Given the description of an element on the screen output the (x, y) to click on. 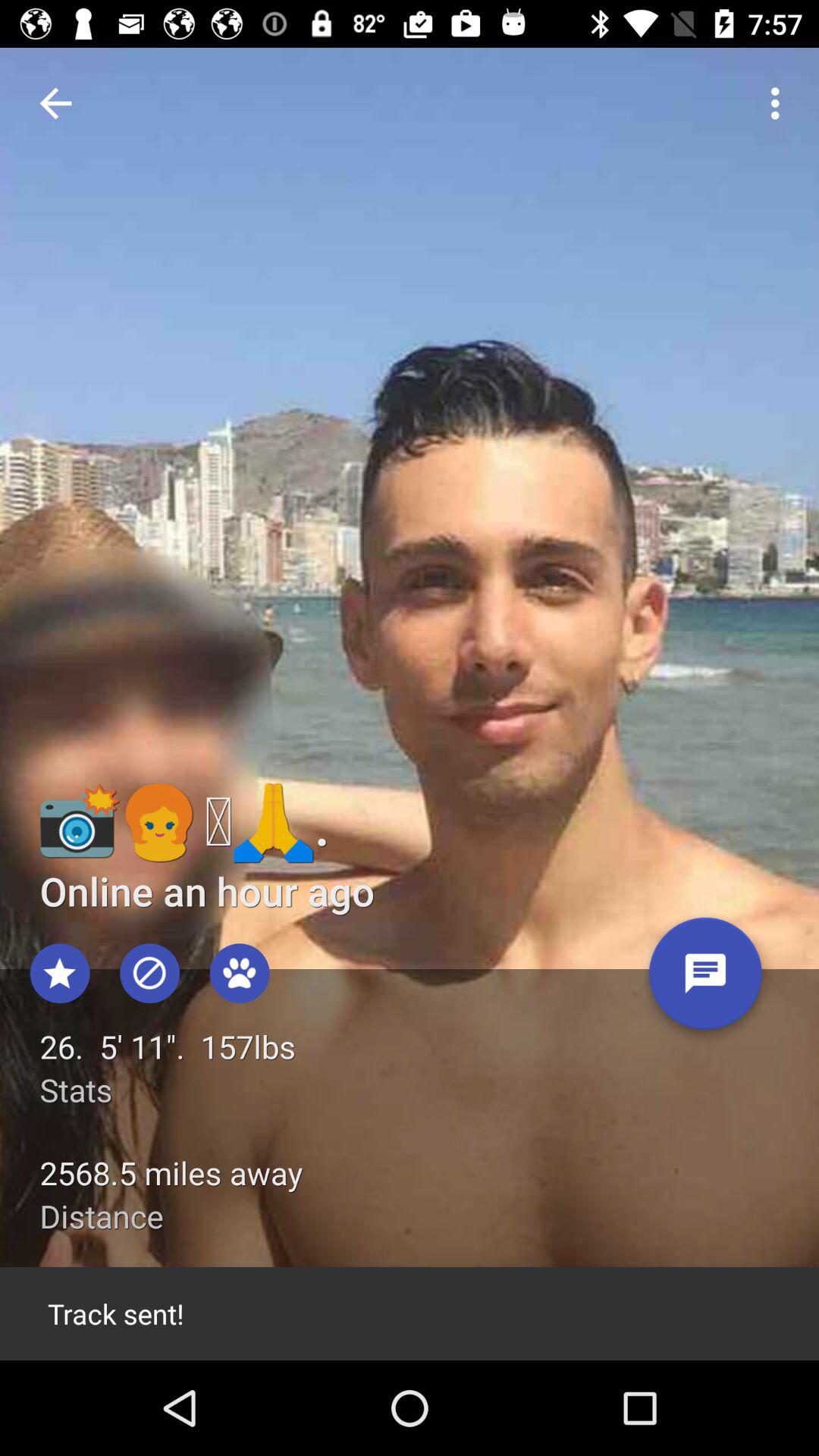
turn off the item at the top right corner (779, 103)
